Given the description of an element on the screen output the (x, y) to click on. 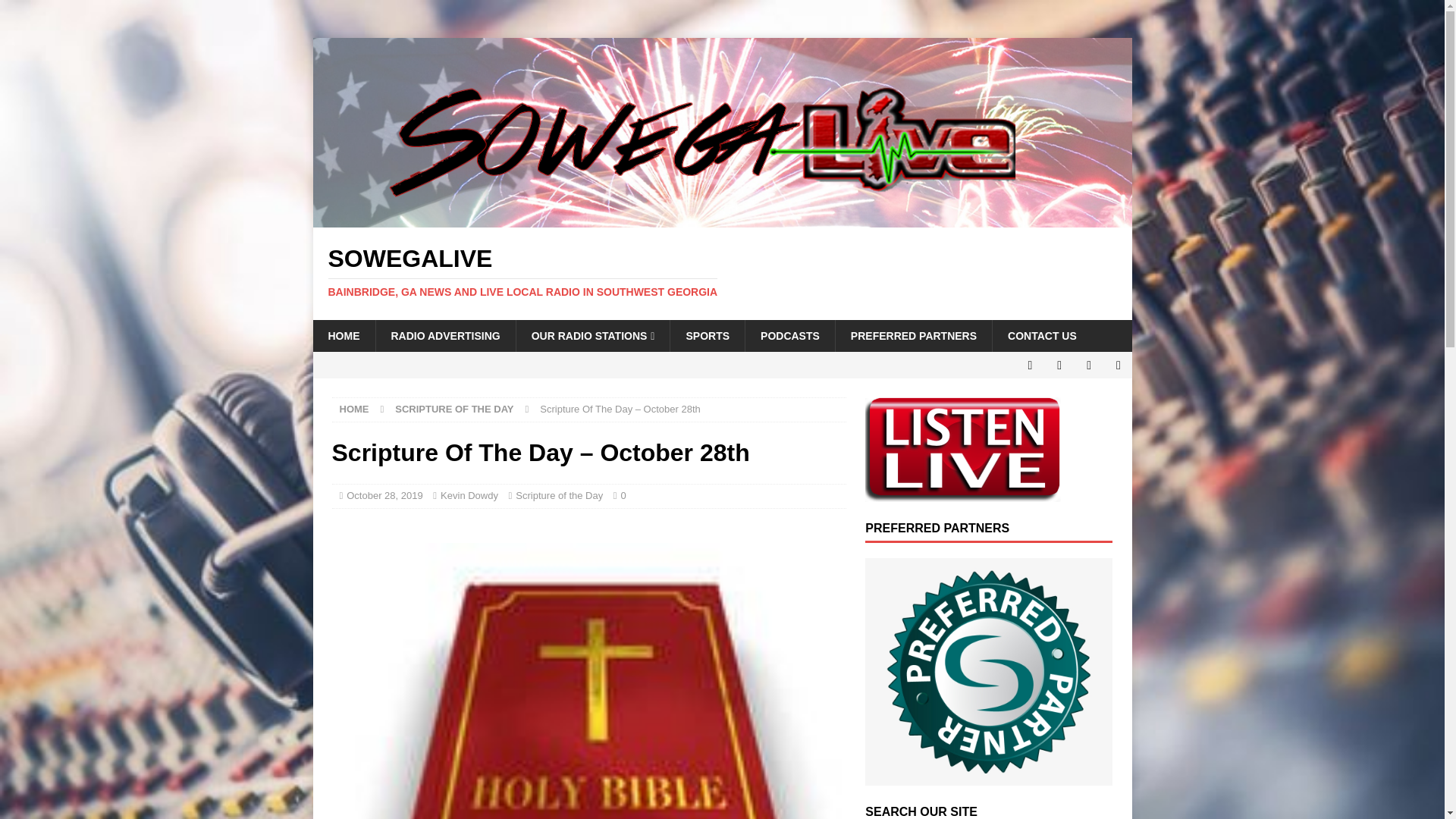
RADIO ADVERTISING (444, 336)
Kevin Dowdy (469, 495)
PODCASTS (789, 336)
Sowegalive (721, 272)
PREFERRED PARTNERS (912, 336)
HOME (354, 408)
SPORTS (706, 336)
October 28, 2019 (384, 495)
HOME (343, 336)
OUR RADIO STATIONS (592, 336)
Scripture of the Day (558, 495)
SCRIPTURE OF THE DAY (453, 408)
Sowegalive (722, 218)
CONTACT US (1041, 336)
